Given the description of an element on the screen output the (x, y) to click on. 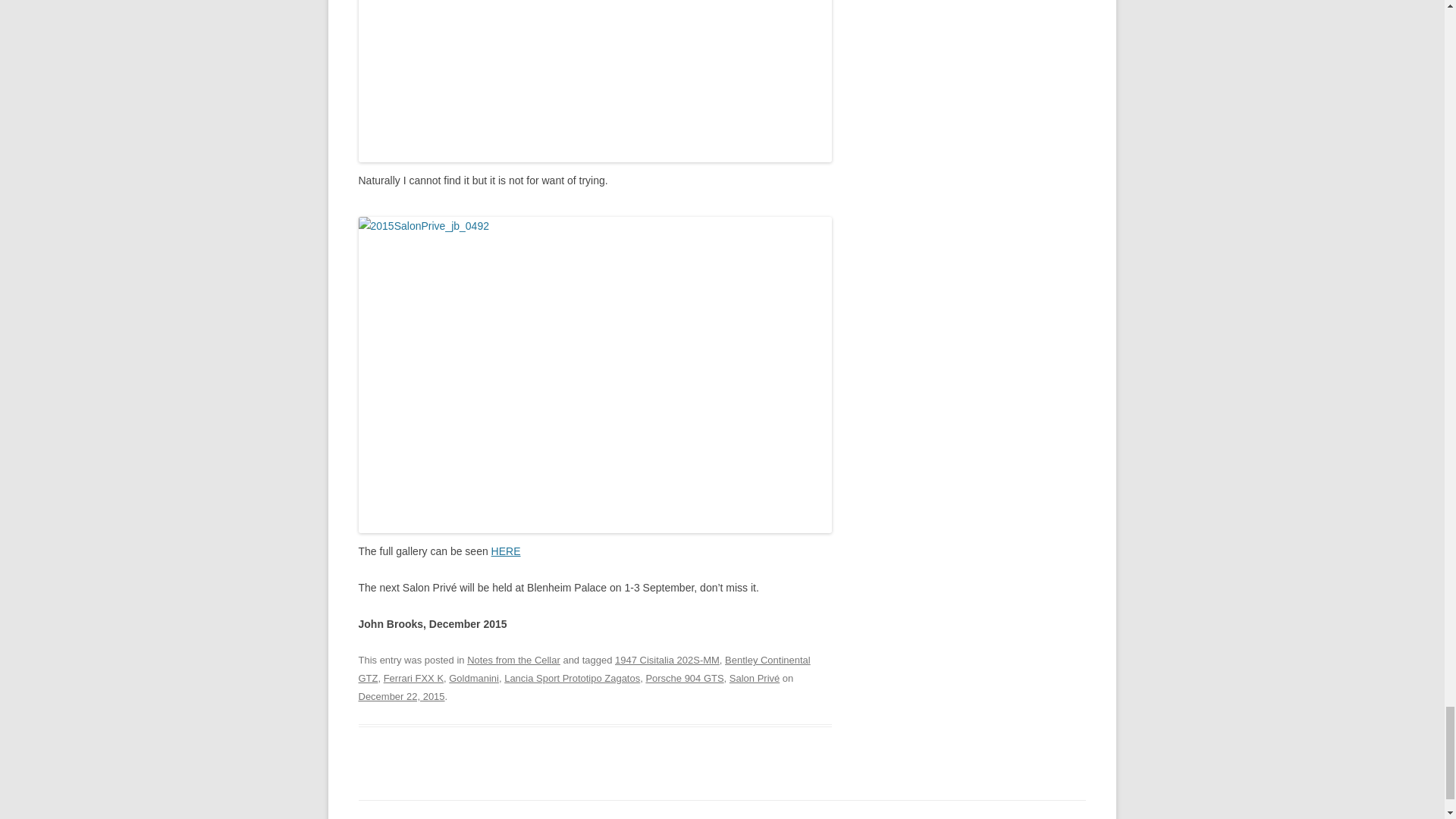
Ferrari FXX K (414, 677)
HERE (506, 551)
December 22, 2015 (401, 696)
Lancia Sport Prototipo Zagatos (571, 677)
1947 Cisitalia 202S-MM (666, 659)
Porsche 904 GTS (684, 677)
8:49 am (401, 696)
Notes from the Cellar (513, 659)
Goldmanini (473, 677)
Bentley Continental GTZ (583, 668)
